Given the description of an element on the screen output the (x, y) to click on. 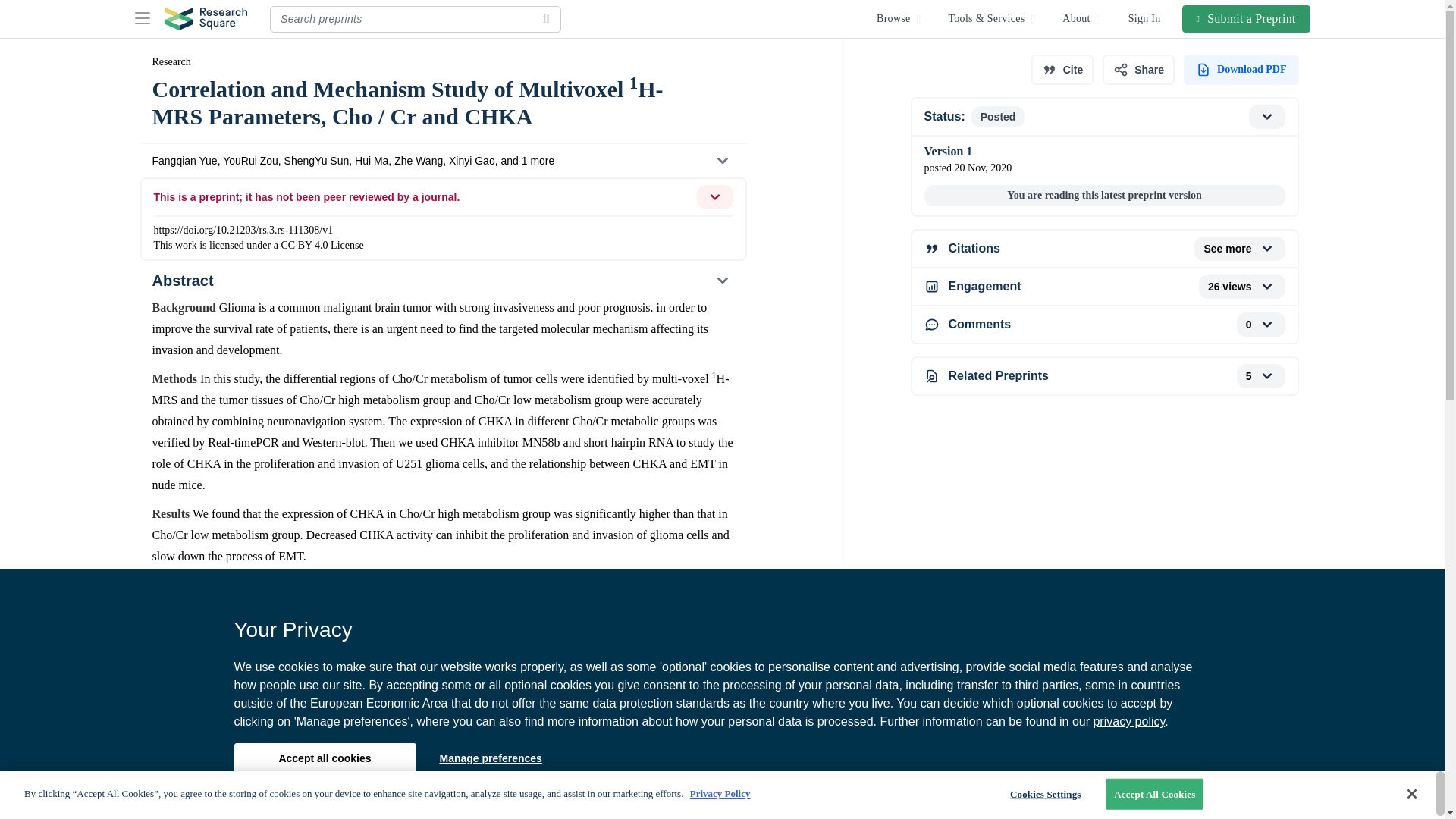
Submit a Preprint (1246, 18)
Accept all cookies (323, 757)
Materials And Methods (442, 773)
Introduction (442, 738)
privacy policy (1128, 721)
Results (442, 805)
Abstract (442, 280)
Figures (442, 703)
Manage preferences (490, 757)
Oncology (181, 659)
Sign In (1144, 18)
